Given the description of an element on the screen output the (x, y) to click on. 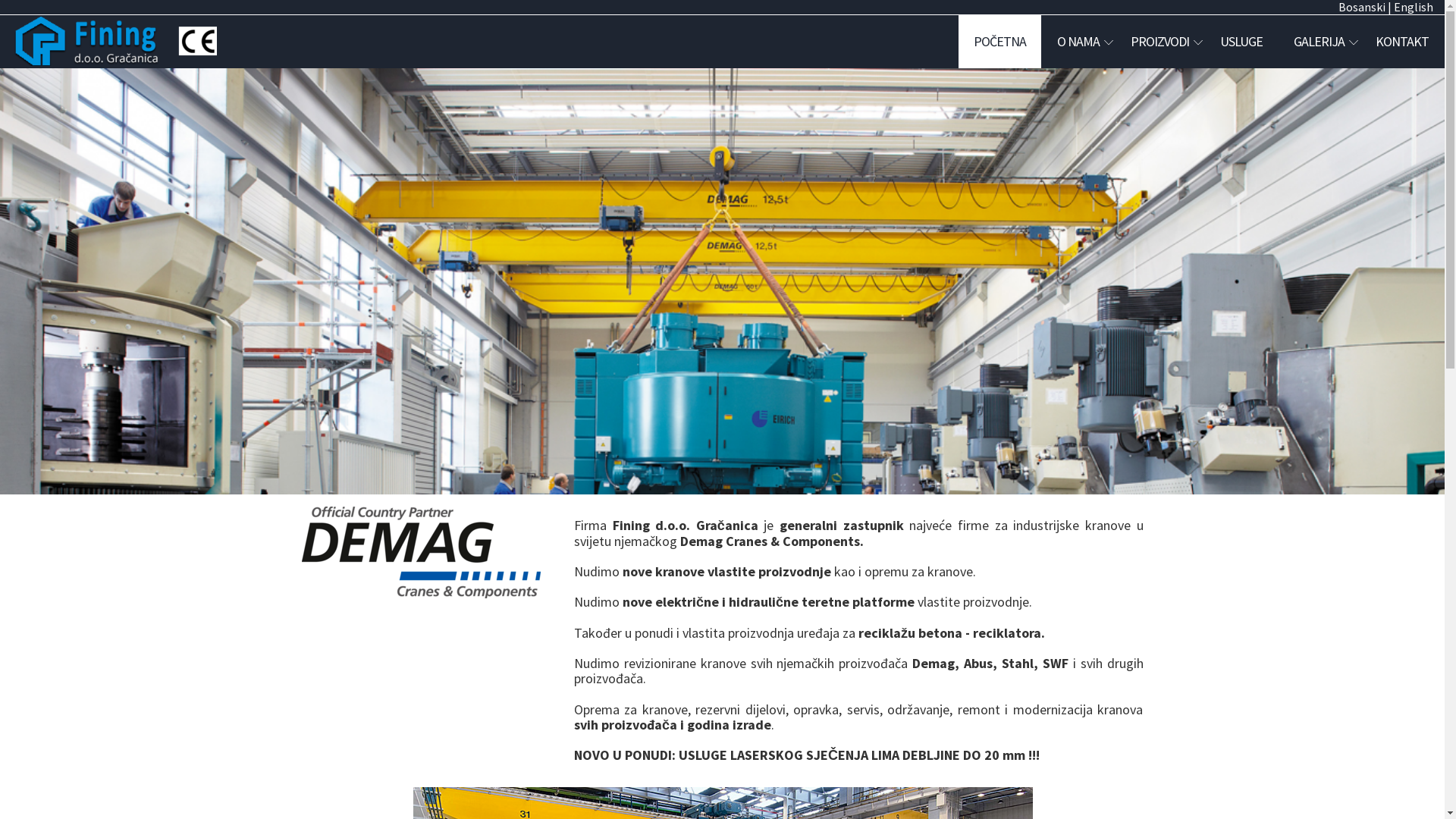
KONTAKT Element type: text (1401, 41)
GALERIJA Element type: text (1318, 41)
PROIZVODI Element type: text (1159, 41)
O NAMA Element type: text (1077, 41)
USLUGE Element type: text (1240, 41)
